Given the description of an element on the screen output the (x, y) to click on. 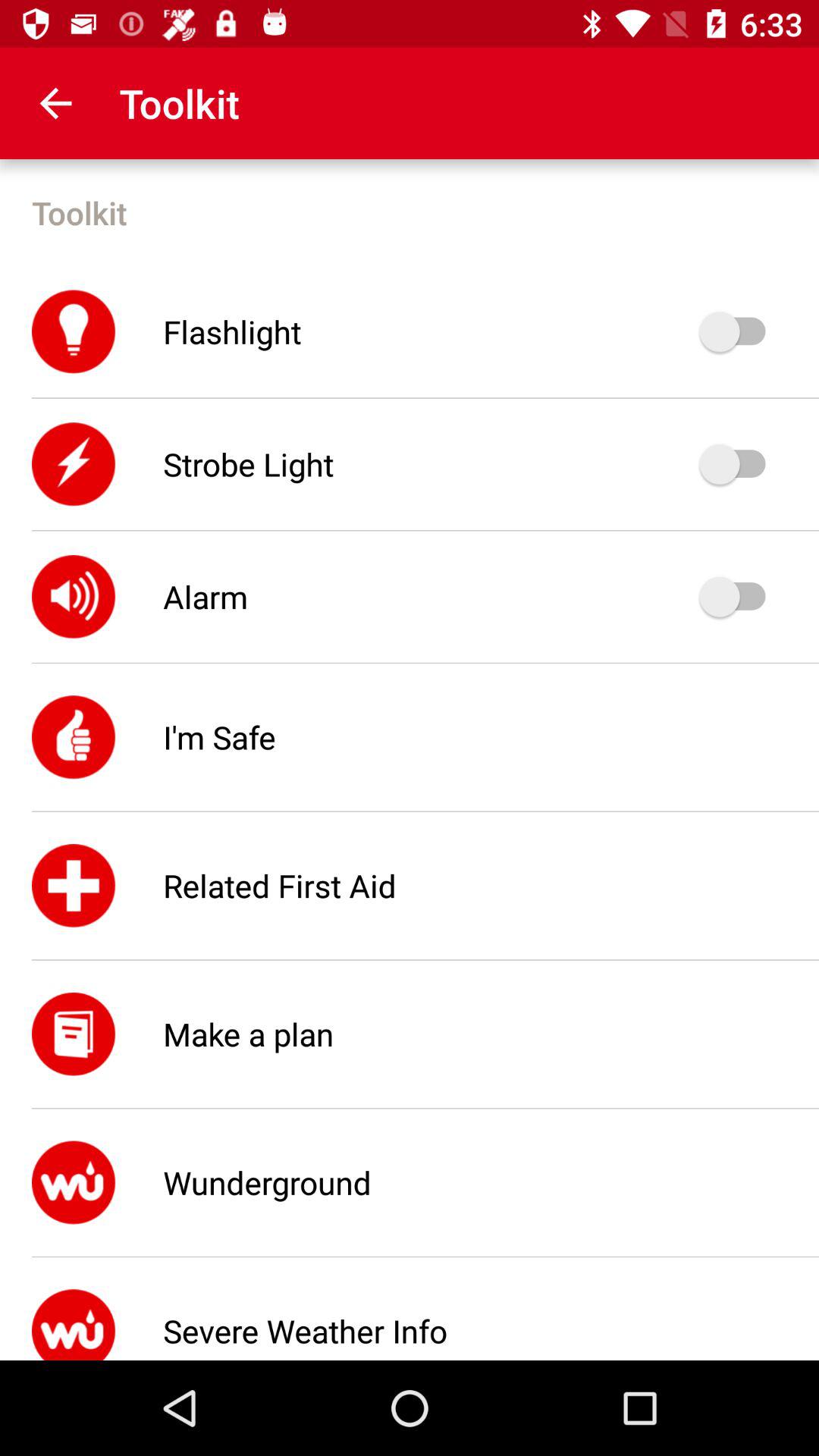
choose the item to the left of toolkit item (55, 103)
